Given the description of an element on the screen output the (x, y) to click on. 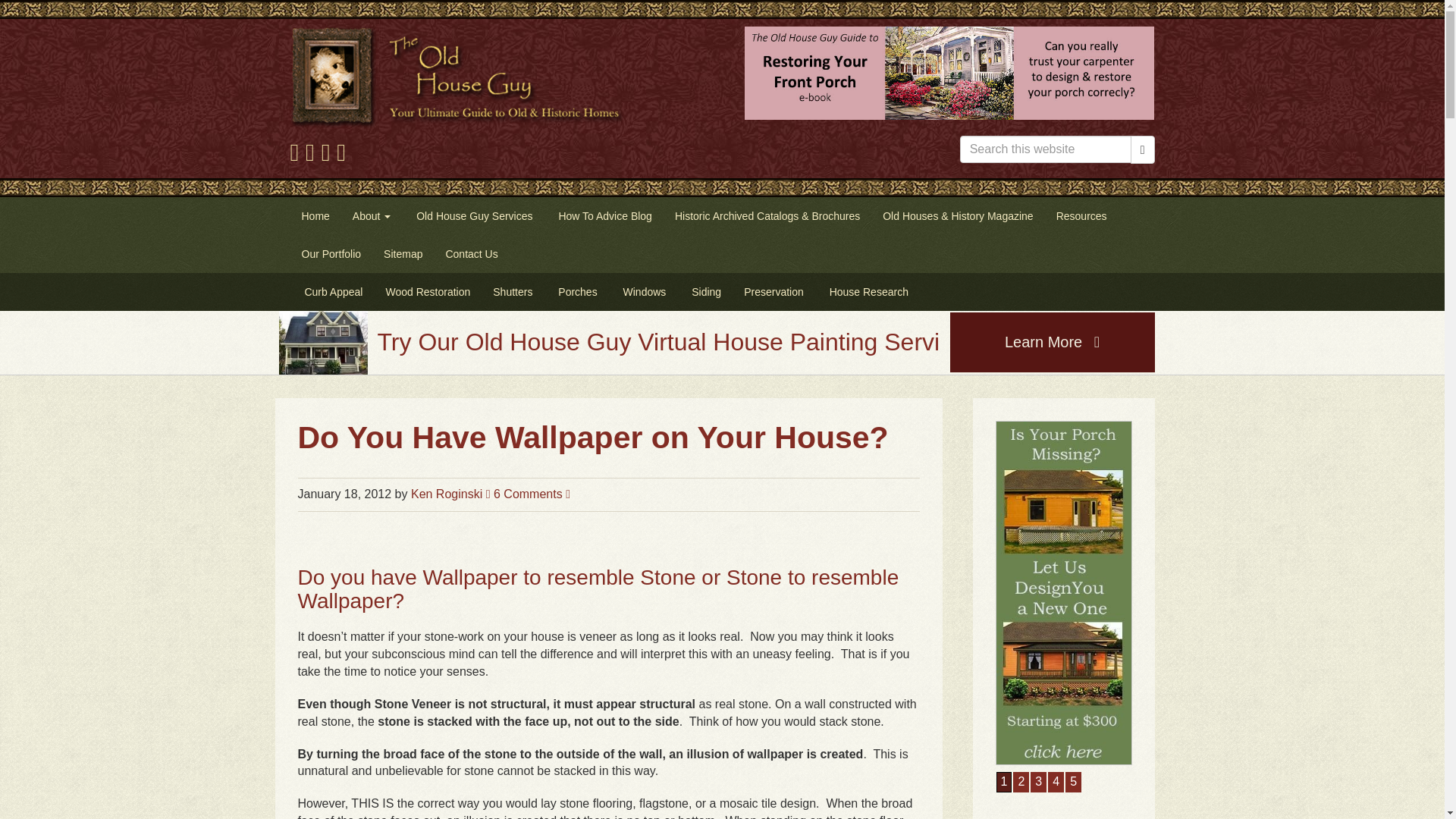
 Siding (704, 291)
 Windows (643, 291)
6 Comments (531, 493)
Curb Appeal (331, 291)
Sitemap (402, 253)
Contact Us (470, 253)
About (370, 216)
 Old House Guy Services (472, 216)
Our Portfolio (330, 253)
Ken Roginski (450, 493)
Wood Restoration (427, 291)
Contact Us (470, 253)
 How To Advice Blog (603, 216)
Home (314, 216)
Sitemap (402, 253)
